Given the description of an element on the screen output the (x, y) to click on. 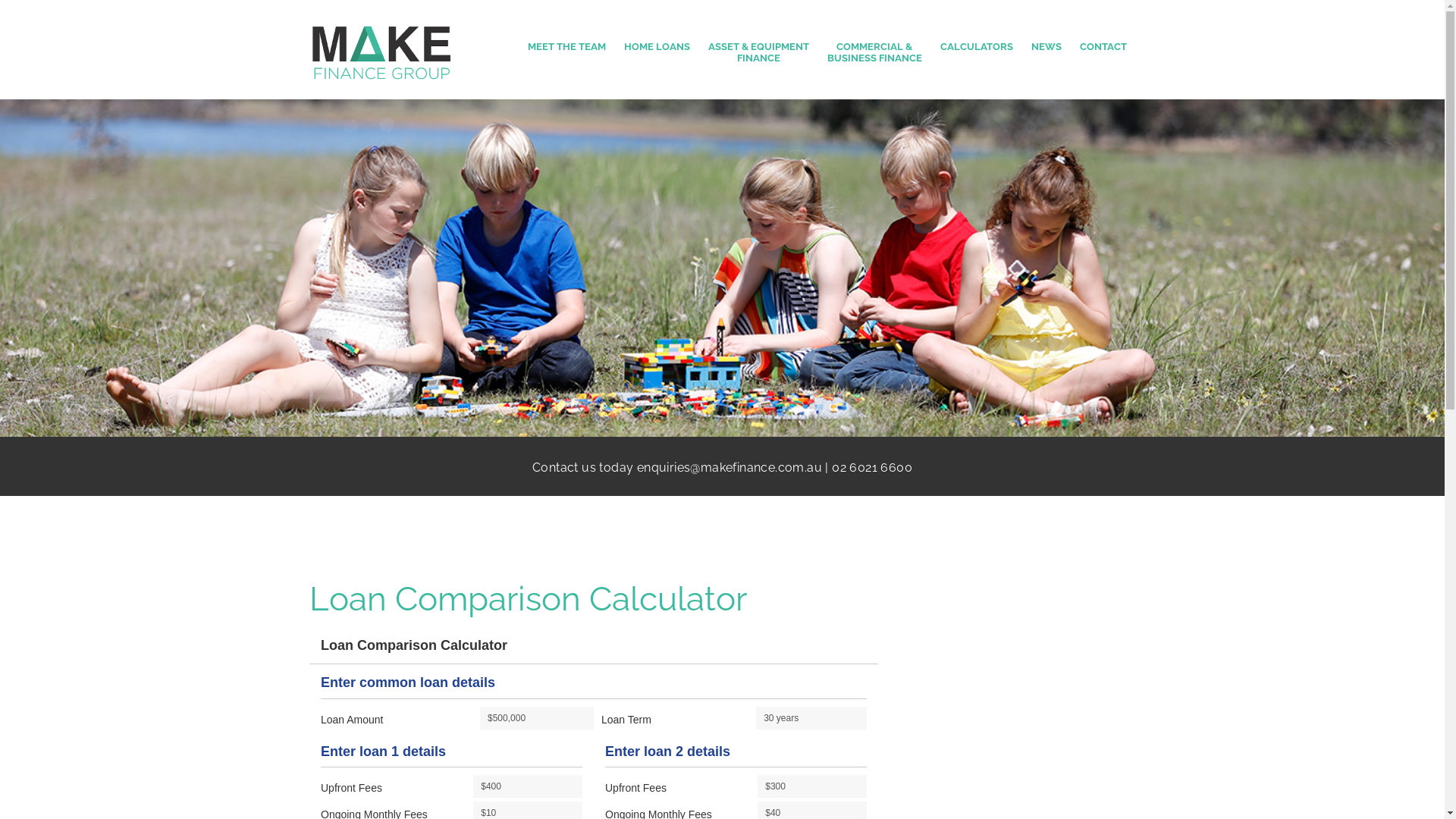
ASSET & EQUIPMENT
FINANCE Element type: text (758, 52)
enquiries@makefinance.com.au Element type: text (729, 466)
COMMERCIAL &
BUSINESS FINANCE Element type: text (873, 52)
CONTACT Element type: text (1102, 52)
HOME LOANS Element type: text (656, 52)
NEWS Element type: text (1046, 52)
02 6021 6600 Element type: text (871, 466)
CALCULATORS Element type: text (976, 52)
MEET THE TEAM Element type: text (566, 52)
